Given the description of an element on the screen output the (x, y) to click on. 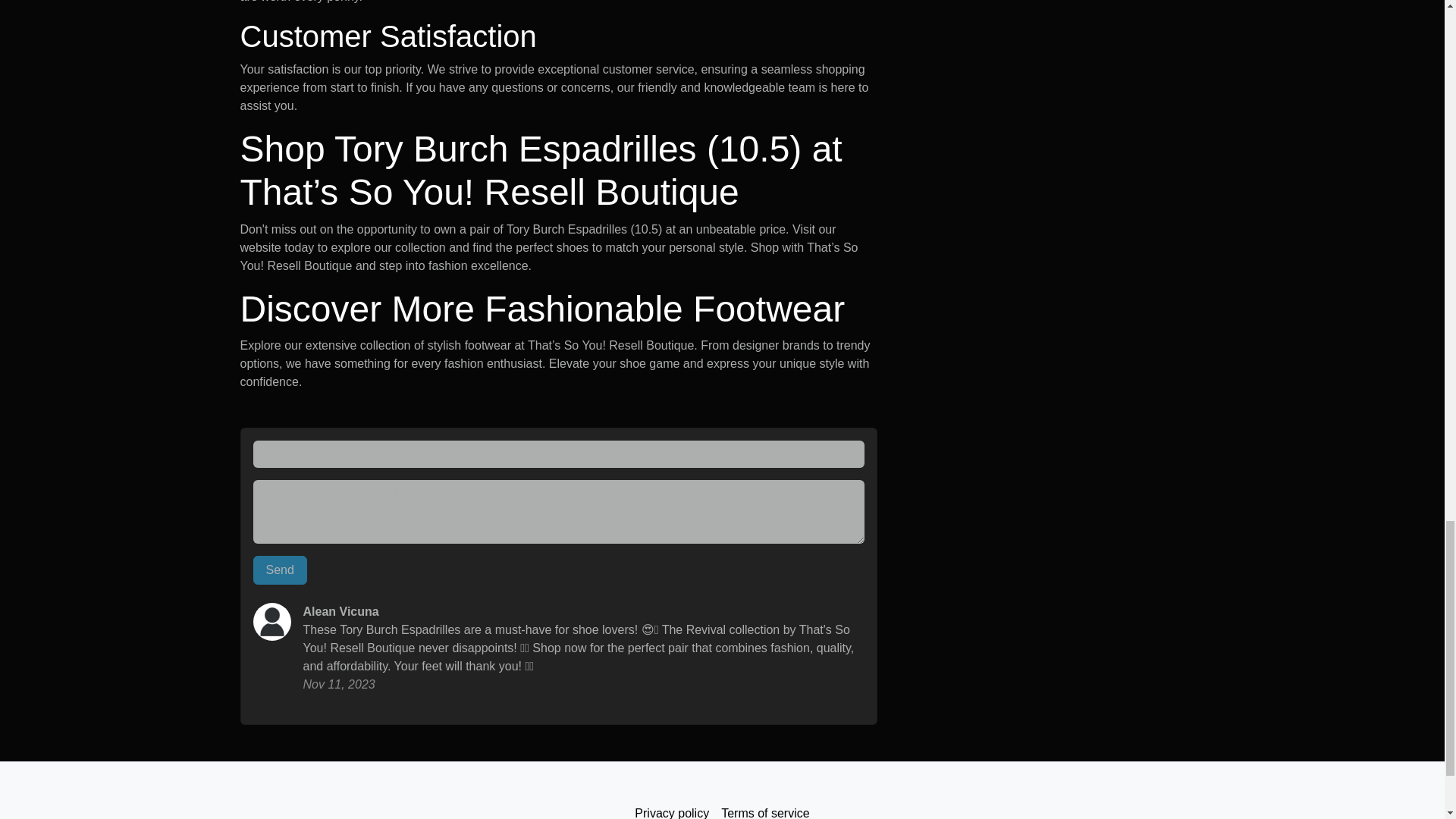
Send (280, 570)
Privacy policy (671, 808)
Send (280, 570)
Terms of service (764, 808)
